Given the description of an element on the screen output the (x, y) to click on. 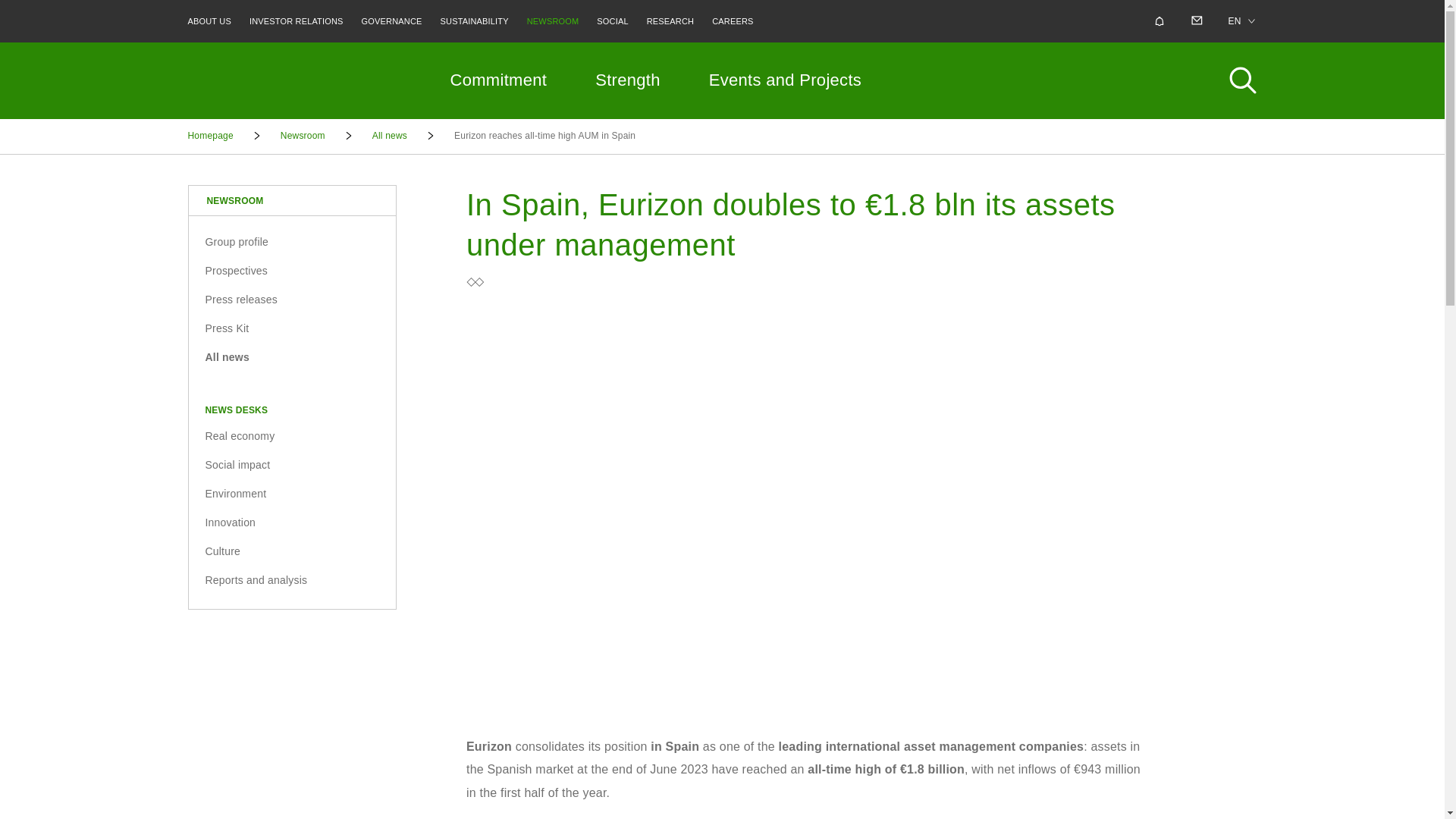
INVESTOR RELATIONS (295, 21)
GOVERNANCE (391, 21)
ABOUT US (209, 21)
